Given the description of an element on the screen output the (x, y) to click on. 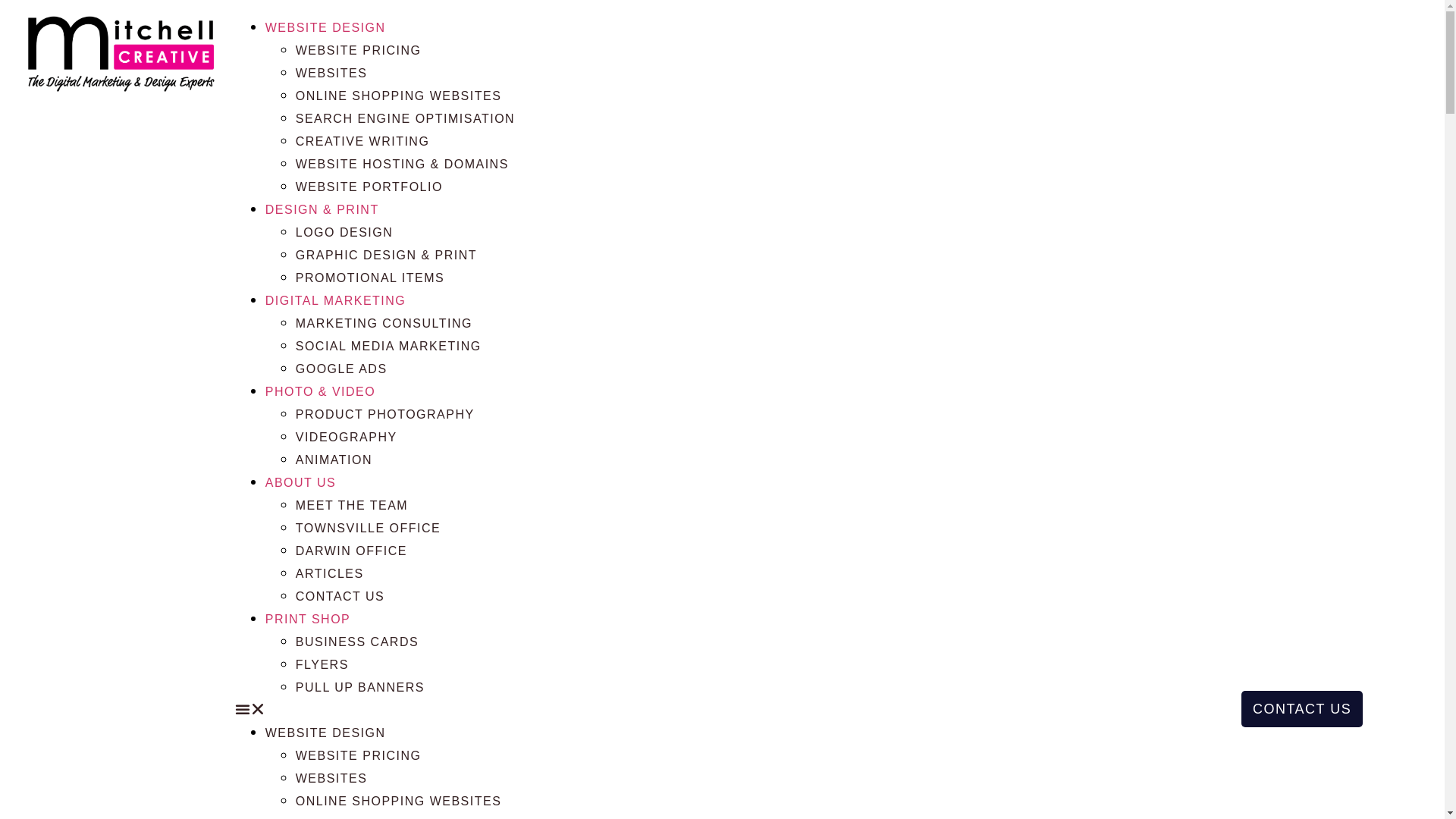
WEBSITE DESIGN Element type: text (325, 732)
WEBSITE PRICING Element type: text (358, 755)
TOWNSVILLE OFFICE Element type: text (367, 527)
ONLINE SHOPPING WEBSITES Element type: text (398, 95)
PRINT SHOP Element type: text (308, 618)
BUSINESS CARDS Element type: text (356, 641)
MEET THE TEAM Element type: text (351, 504)
VIDEOGRAPHY Element type: text (346, 436)
LOGO DESIGN Element type: text (344, 231)
MARKETING CONSULTING Element type: text (383, 322)
PULL UP BANNERS Element type: text (359, 686)
DARWIN OFFICE Element type: text (351, 550)
PRODUCT PHOTOGRAPHY Element type: text (384, 413)
GRAPHIC DESIGN & PRINT Element type: text (385, 254)
WEBSITE HOSTING & DOMAINS Element type: text (401, 163)
WEBSITE PORTFOLIO Element type: text (368, 186)
WEBSITES Element type: text (331, 777)
DIGITAL MARKETING Element type: text (335, 300)
CONTACT US Element type: text (340, 595)
WEBSITES Element type: text (331, 72)
SEARCH ENGINE OPTIMISATION Element type: text (404, 118)
ANIMATION Element type: text (333, 459)
CONTACT US Element type: text (1301, 708)
SOCIAL MEDIA MARKETING Element type: text (388, 345)
WEBSITE DESIGN Element type: text (325, 27)
ARTICLES Element type: text (329, 573)
WEBSITE PRICING Element type: text (358, 49)
FLYERS Element type: text (321, 664)
GOOGLE ADS Element type: text (341, 368)
DESIGN & PRINT Element type: text (322, 209)
PROMOTIONAL ITEMS Element type: text (369, 277)
ABOUT US Element type: text (300, 482)
PHOTO & VIDEO Element type: text (320, 391)
CREATIVE WRITING Element type: text (362, 140)
ONLINE SHOPPING WEBSITES Element type: text (398, 800)
